Given the description of an element on the screen output the (x, y) to click on. 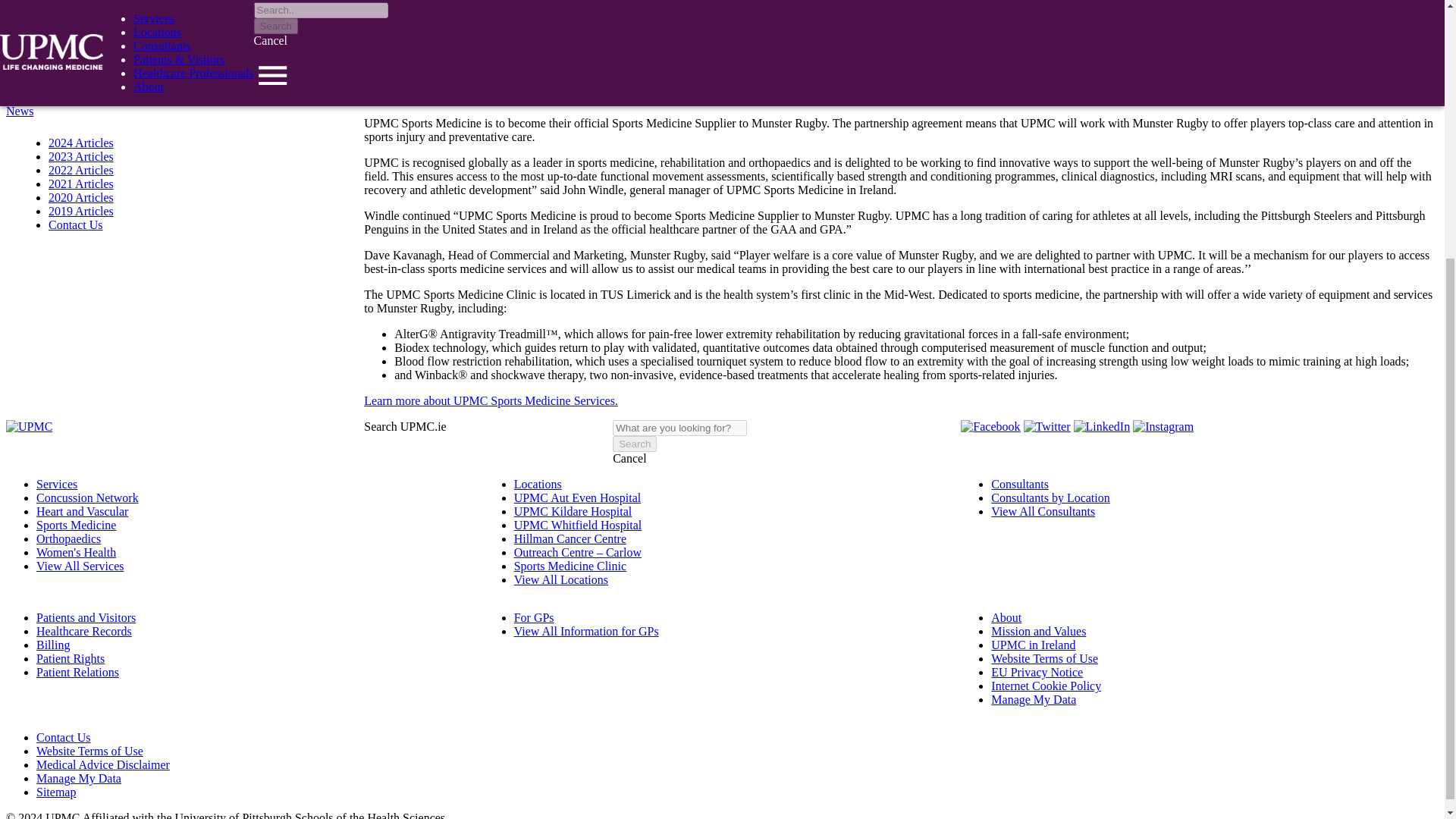
2022 Articles (80, 169)
2019 Articles (80, 210)
Contact Us (75, 224)
2020 Articles (80, 196)
Concussion Network (87, 497)
Search (634, 443)
Services (56, 483)
2024 Articles (80, 142)
Skip Navigation (44, 97)
Search (634, 443)
Learn more about UPMC Sports Medicine Services. (490, 400)
2023 Articles (80, 155)
2021 Articles (80, 183)
News (19, 110)
Visit the UPMC Sports Medicine webpage. (490, 400)
